Given the description of an element on the screen output the (x, y) to click on. 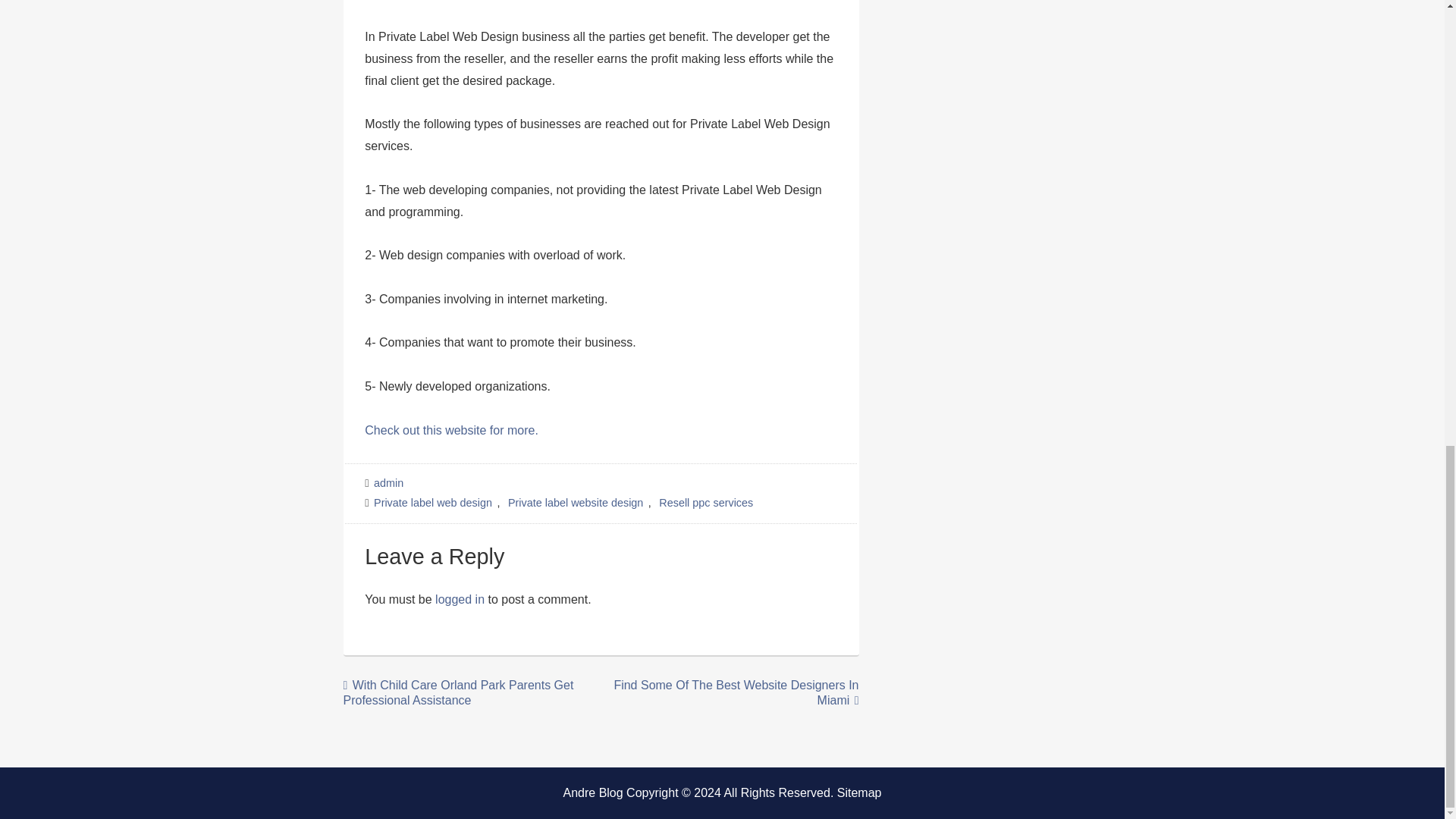
Private label web design (433, 502)
Check out this website for more. (451, 429)
admin (389, 482)
logged in (459, 599)
Find Some Of The Best Website Designers In Miami (735, 691)
Sitemap (859, 792)
Resell ppc services (705, 502)
Title (451, 429)
Private label website design (575, 502)
